Given the description of an element on the screen output the (x, y) to click on. 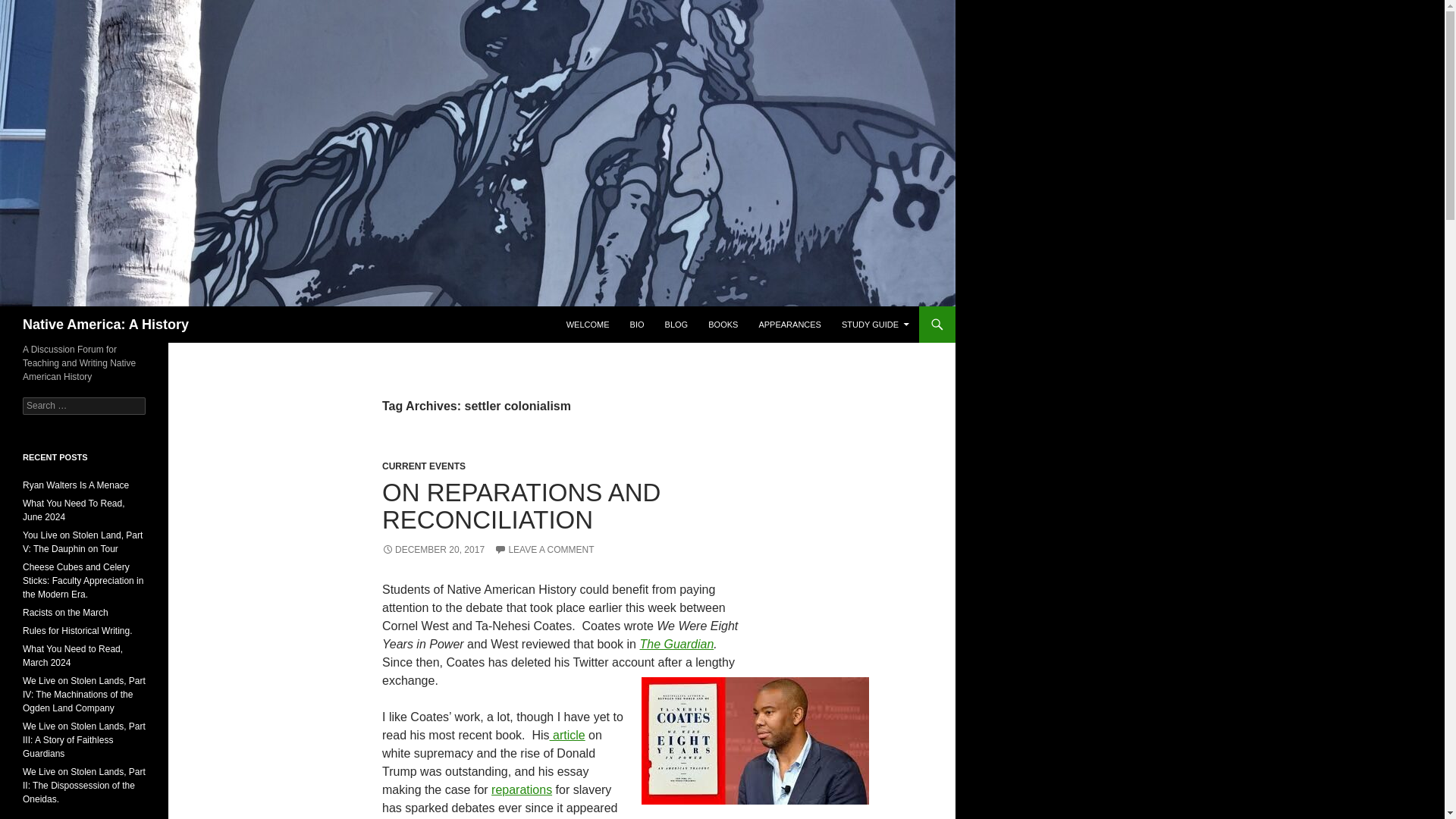
article (567, 735)
CURRENT EVENTS (423, 466)
APPEARANCES (789, 324)
DECEMBER 20, 2017 (432, 549)
BOOKS (722, 324)
STUDY GUIDE (875, 324)
WELCOME (587, 324)
BIO (637, 324)
